Given the description of an element on the screen output the (x, y) to click on. 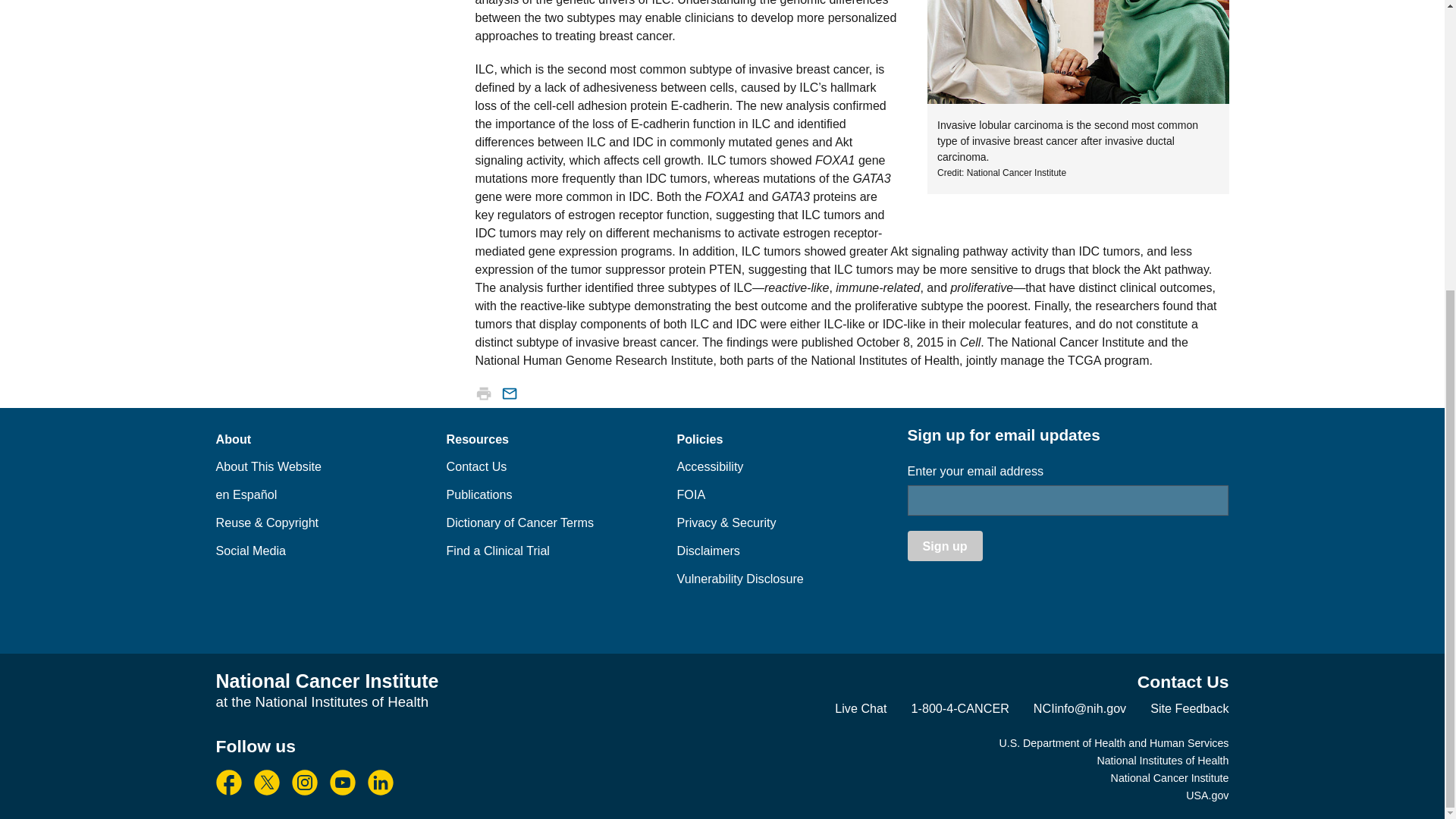
About This Website (268, 466)
Contact Us (475, 466)
Dictionary of Cancer Terms (519, 522)
Site Feedback (1189, 707)
FOIA (690, 494)
Accessibility (709, 466)
1-800-4-CANCER (960, 707)
Sign up (944, 545)
Social Media (250, 550)
Publications (478, 494)
Find a Clinical Trial (496, 550)
Vulnerability Disclosure (740, 578)
Live Chat (860, 707)
Disclaimers (708, 550)
